Given the description of an element on the screen output the (x, y) to click on. 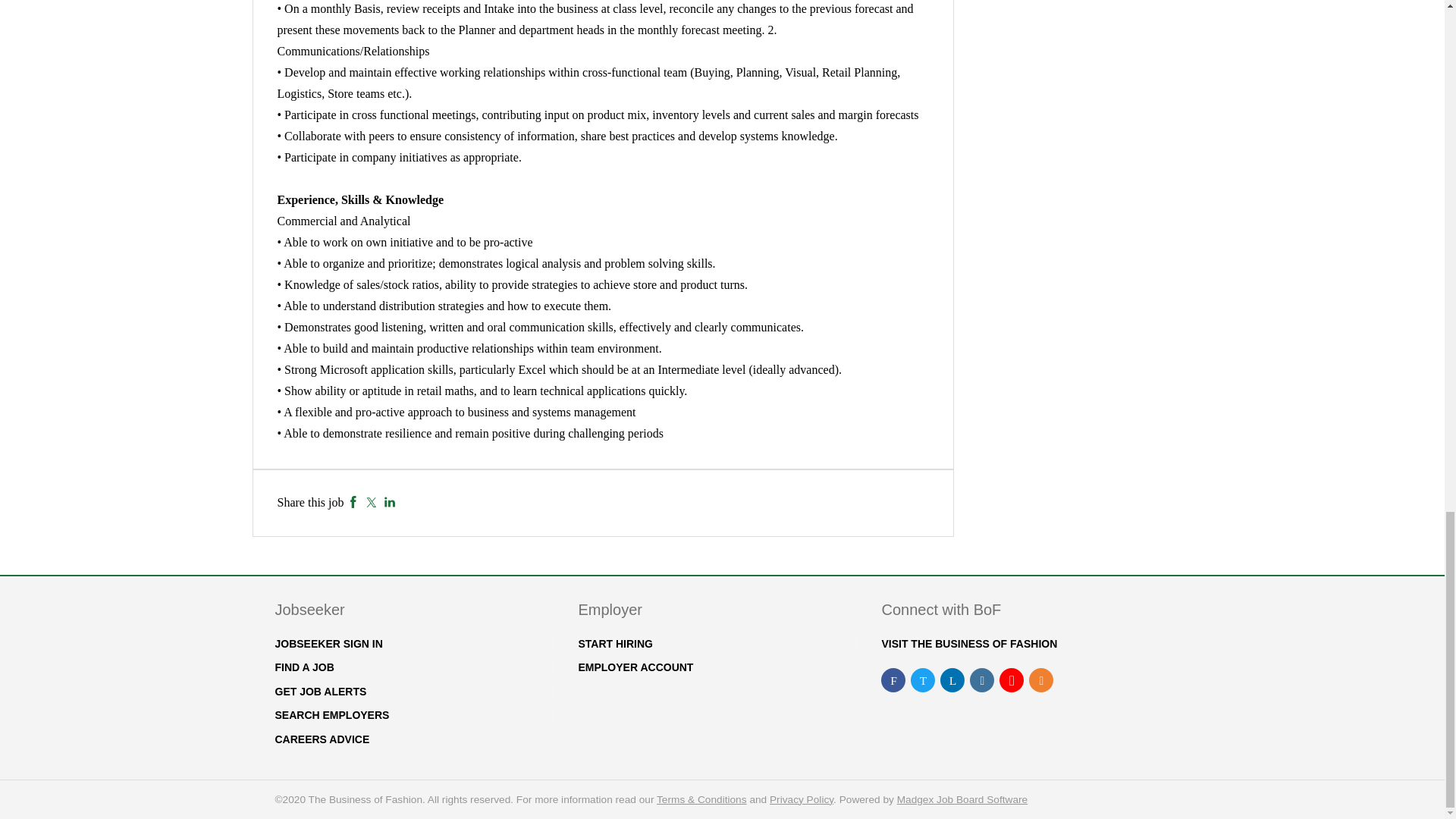
GET JOB ALERTS (320, 691)
Facebook (353, 502)
LinkedIn (390, 502)
Twitter (371, 502)
SEARCH EMPLOYERS (331, 715)
JOBSEEKER SIGN IN (328, 644)
FIND A JOB (304, 666)
